Given the description of an element on the screen output the (x, y) to click on. 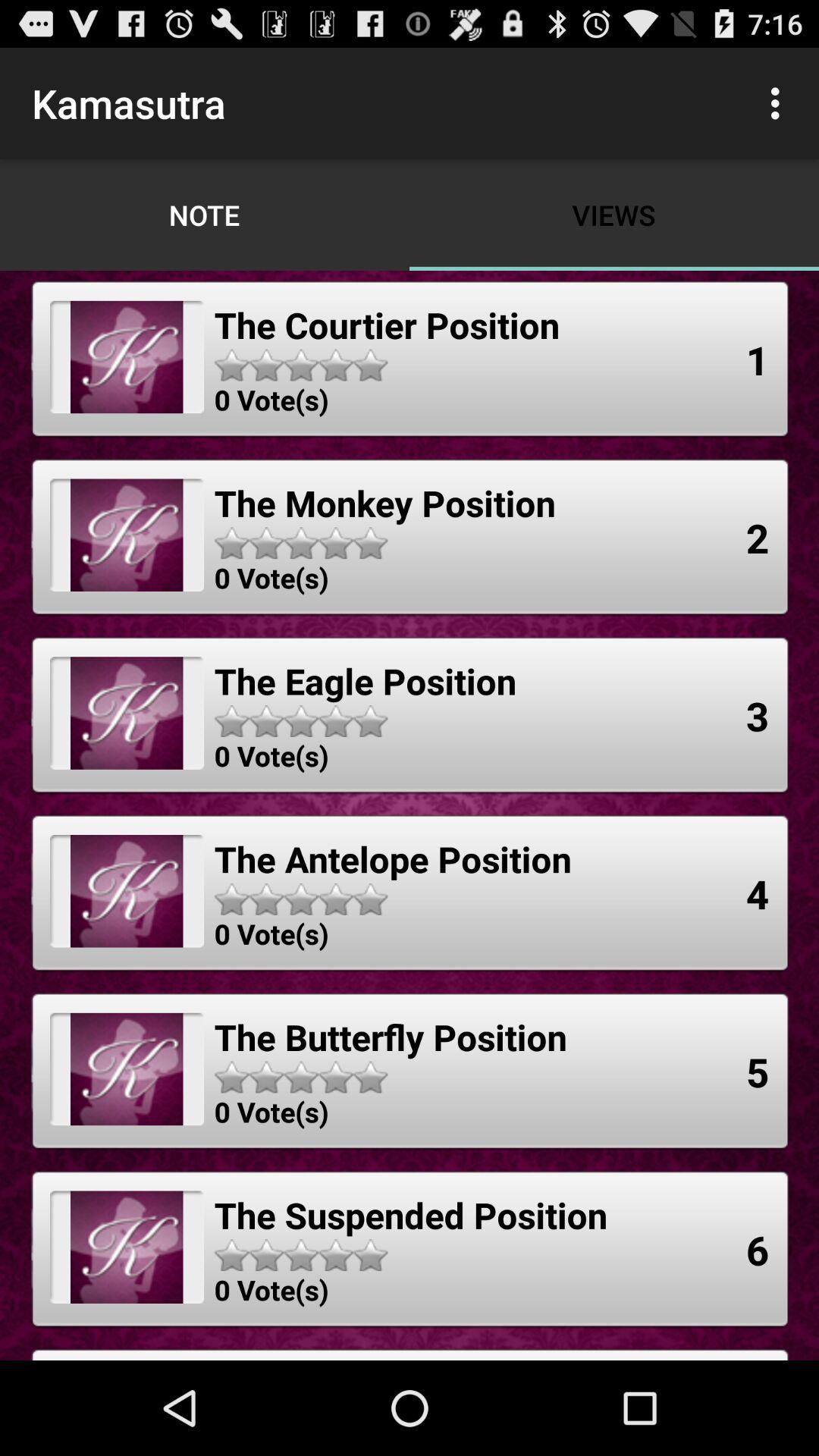
turn on icon below the 3 app (757, 893)
